Given the description of an element on the screen output the (x, y) to click on. 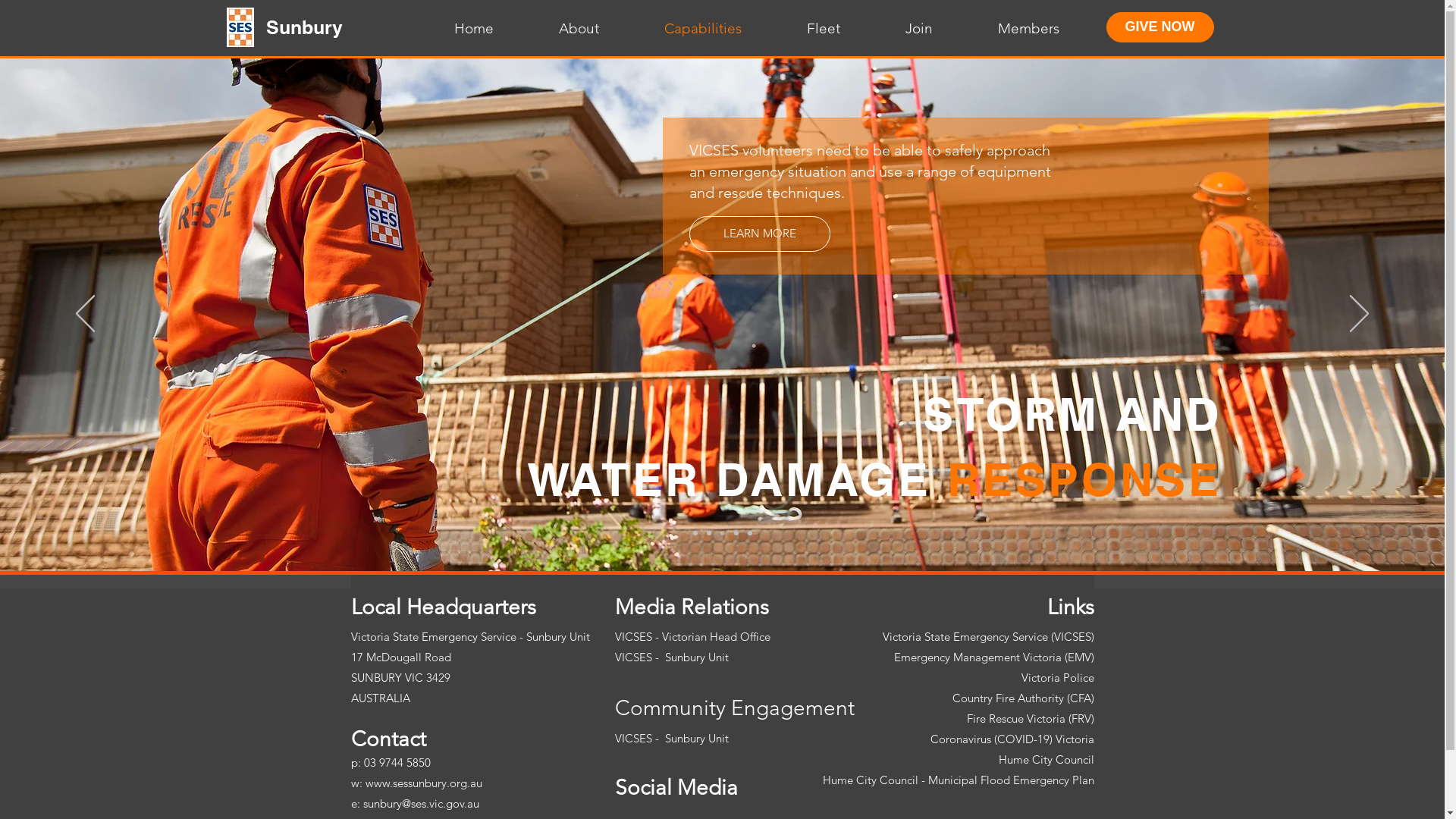
sunbury@ses.vic.gov.au Element type: text (420, 803)
Home Element type: text (447, 28)
17 McDougall Road Element type: text (400, 656)
Join Element type: text (893, 28)
VICSES -  Sunbury Unit Element type: text (671, 738)
Hume City Council - Municipal Flood Emergency Plan Element type: text (957, 779)
Victoria State Emergency Service (VICSES) Element type: text (988, 636)
Victoria Police Element type: text (1056, 677)
Sunbury Element type: text (303, 26)
VICSES - Victorian Head Office Element type: text (691, 636)
Hume City Council Element type: text (1045, 759)
Fleet Element type: text (798, 28)
03 9744 5850 Element type: text (397, 762)
Emergency Management Victoria (EMV) Element type: text (993, 656)
www.sessunbury.org.au Element type: text (423, 782)
SUNBURY VIC 3429 Element type: text (399, 677)
VICSES -  Sunbury Unit Element type: text (671, 656)
Fire Rescue Victoria (FRV) Element type: text (1029, 718)
AUSTRALIA Element type: text (379, 697)
GIVE NOW Element type: text (1159, 27)
Capabilities Element type: text (677, 28)
Country Fire Authority (CFA) Element type: text (1023, 697)
Coronavirus (COVID-19) Victoria Element type: text (1011, 738)
LEARN MORE Element type: text (738, 466)
